Given the description of an element on the screen output the (x, y) to click on. 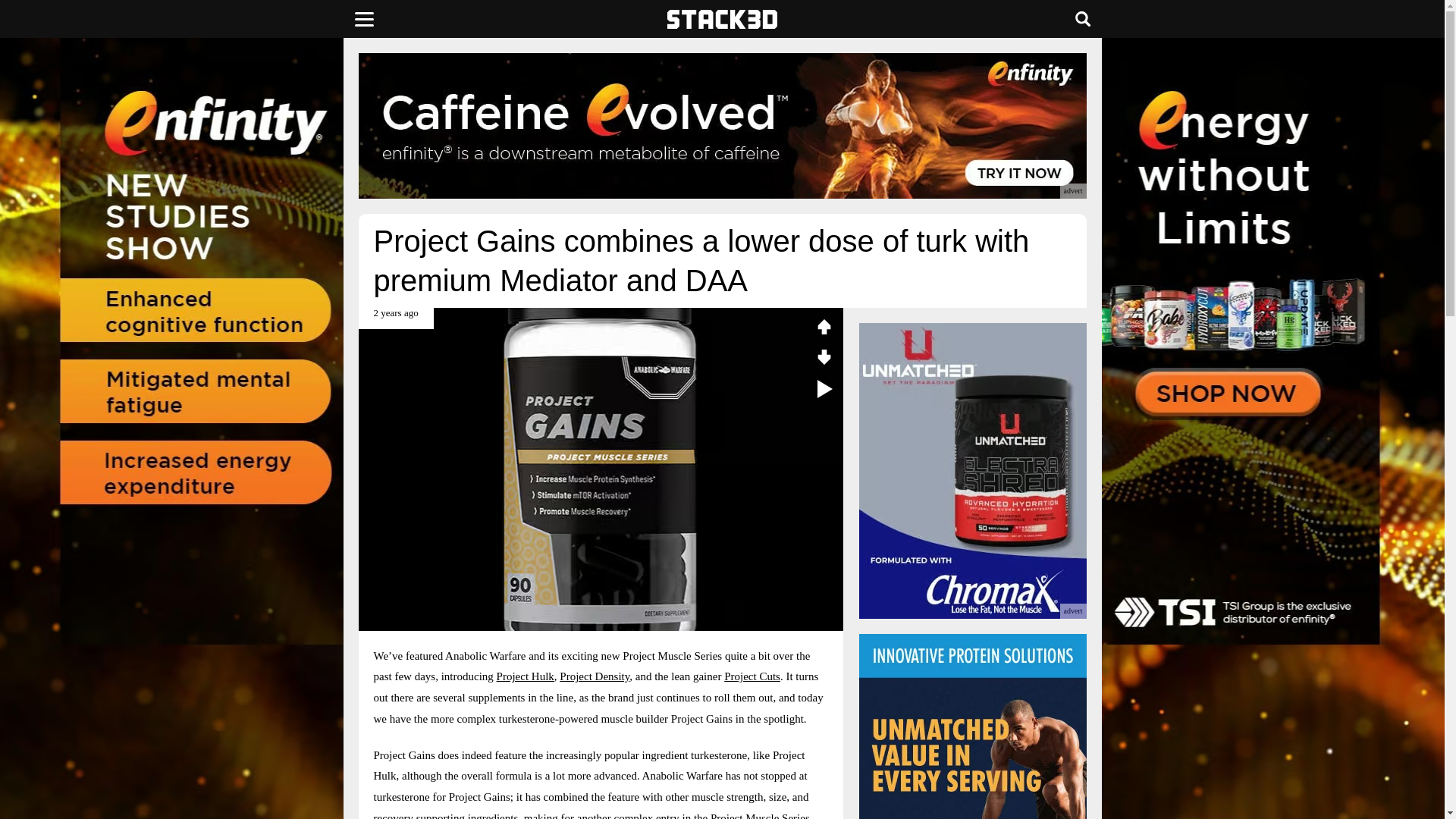
Project Density (593, 676)
February 10th 2022 (395, 318)
Project Cuts (751, 676)
Project Hulk (525, 676)
